Given the description of an element on the screen output the (x, y) to click on. 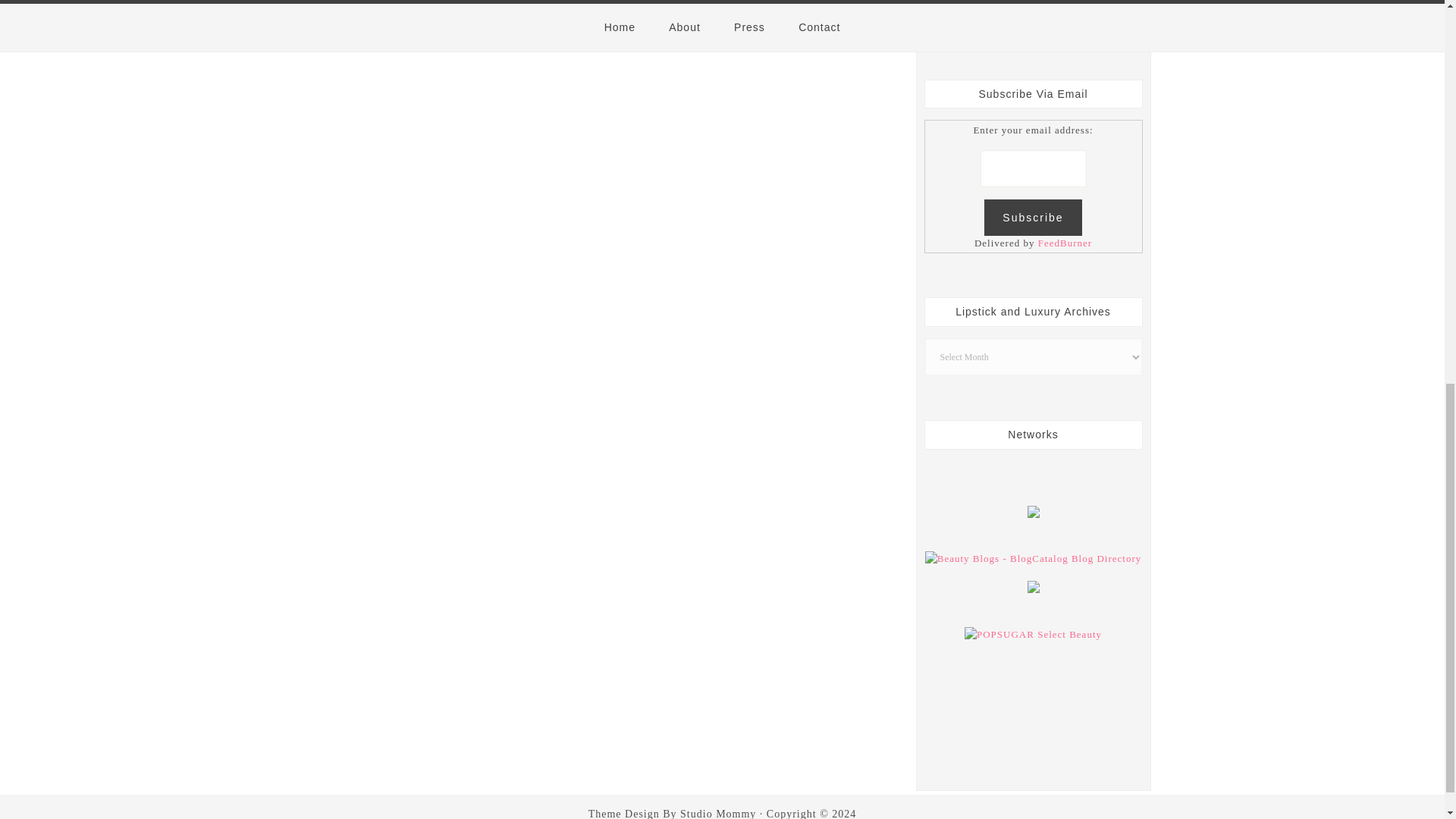
Subscribe (1032, 217)
Beauty Blogs - BlogCatalog Blog Directory (1032, 558)
Subscribe (1032, 217)
FeedBurner (1065, 242)
